Given the description of an element on the screen output the (x, y) to click on. 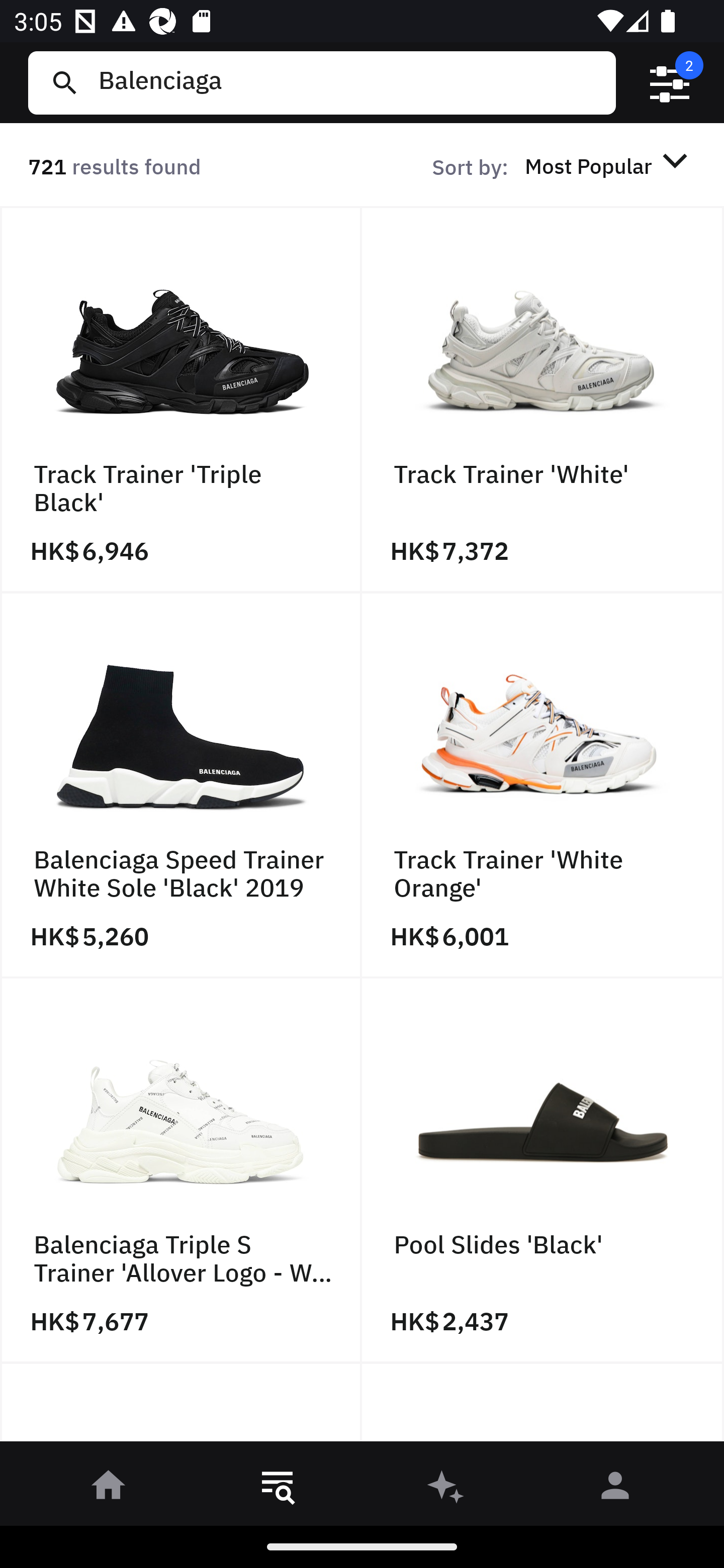
Balenciaga (349, 82)
 (669, 82)
Most Popular  (609, 165)
Track Trainer 'Triple Black' HK$ 6,946 (181, 399)
Track Trainer 'White' HK$ 7,372 (543, 399)
Track Trainer 'White Orange' HK$ 6,001 (543, 785)
Pool Slides 'Black' HK$ 2,437 (543, 1171)
󰋜 (108, 1488)
󱎸 (277, 1488)
󰫢 (446, 1488)
󰀄 (615, 1488)
